Given the description of an element on the screen output the (x, y) to click on. 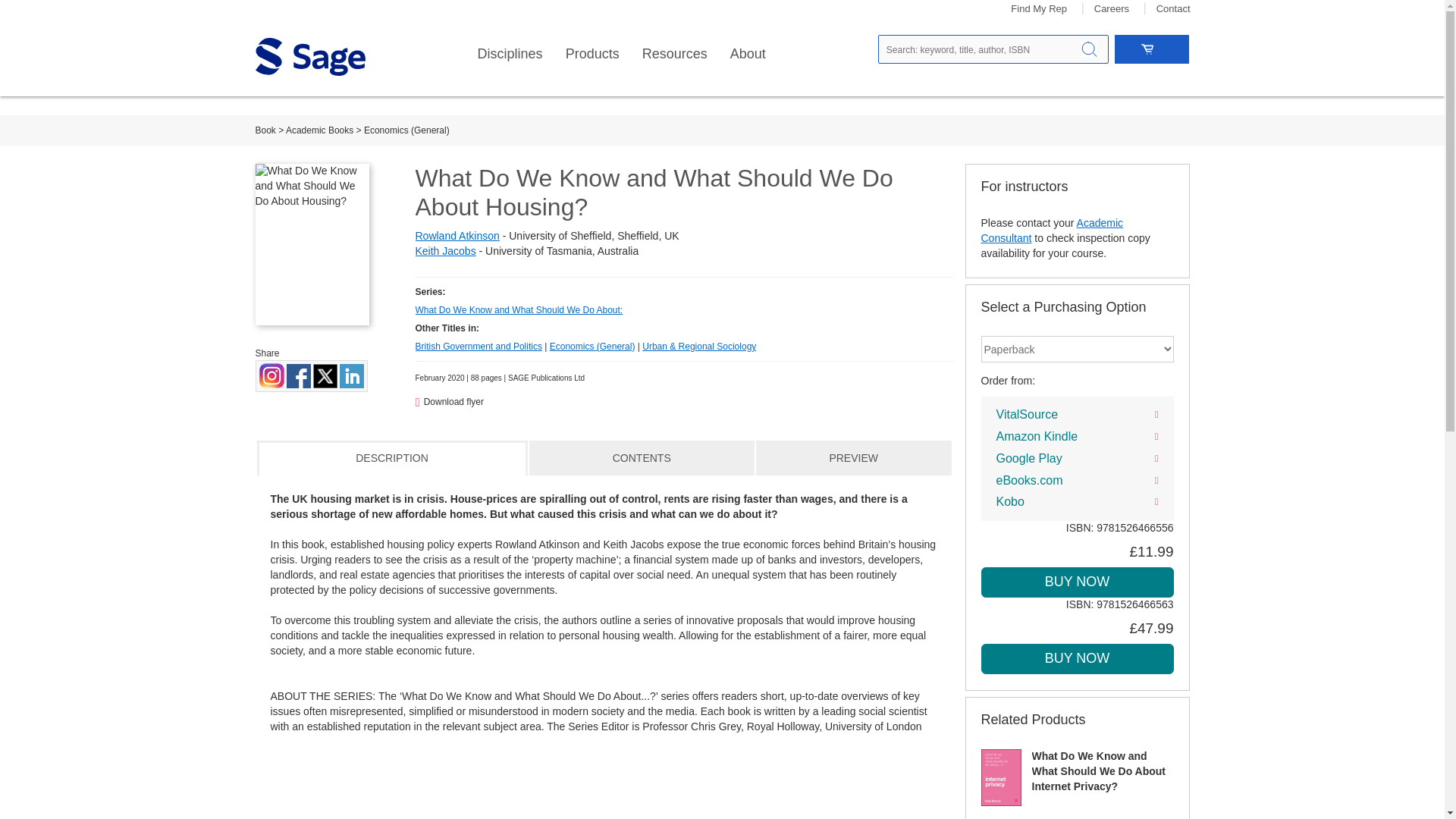
Disciplines (509, 53)
Careers (1111, 8)
Sage logo: link back to homepage (309, 56)
Buy now (1077, 582)
Find My Rep (1038, 8)
Buy now (1077, 658)
Search (1089, 48)
Contact (1173, 8)
